Given the description of an element on the screen output the (x, y) to click on. 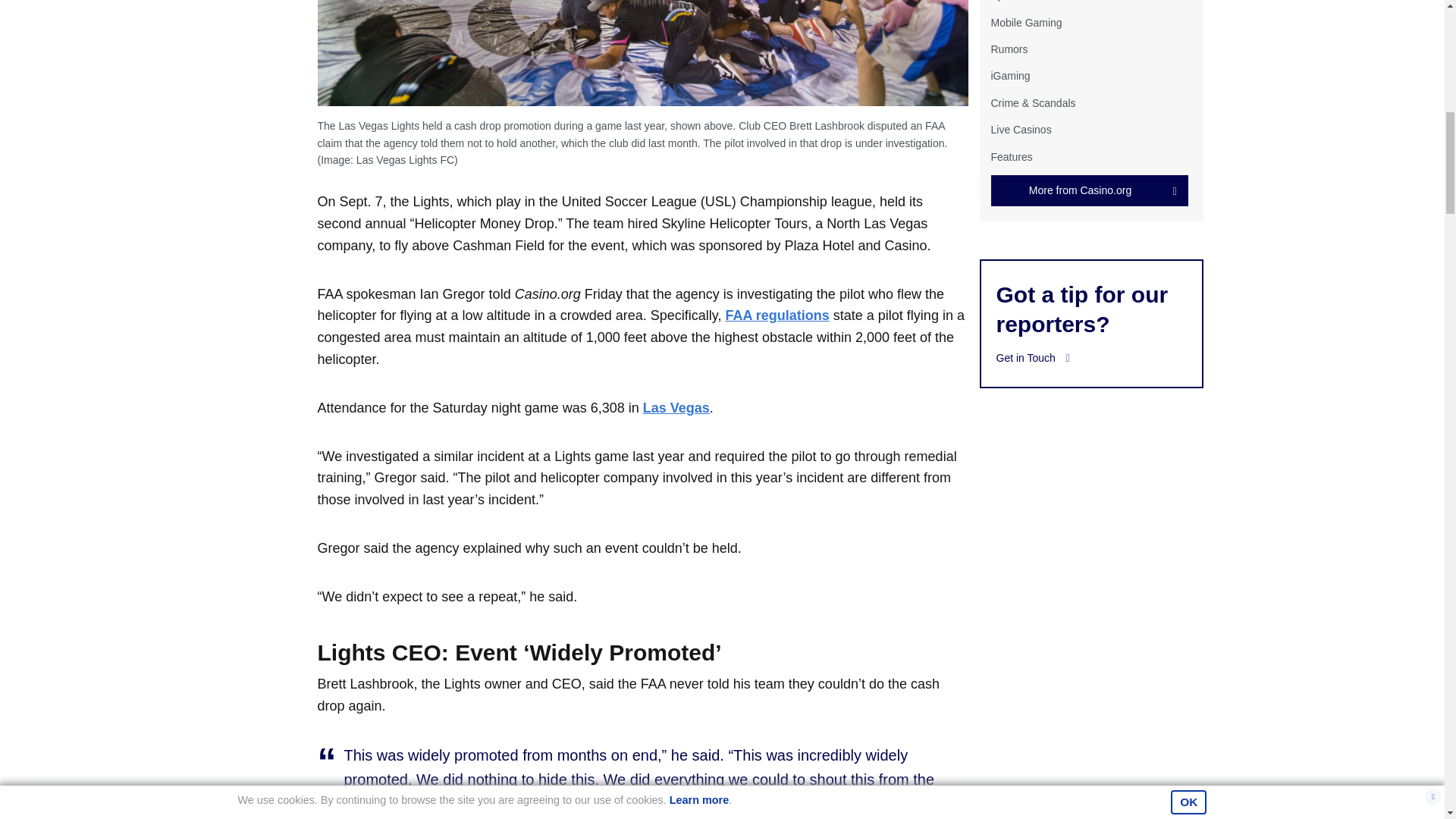
Mobile Gaming (1025, 22)
Sports (1005, 0)
Live Casinos (1020, 129)
iGaming (1009, 75)
FAA regulations (776, 314)
Features (1011, 155)
Rumors (1008, 49)
Las Vegas (676, 407)
